Given the description of an element on the screen output the (x, y) to click on. 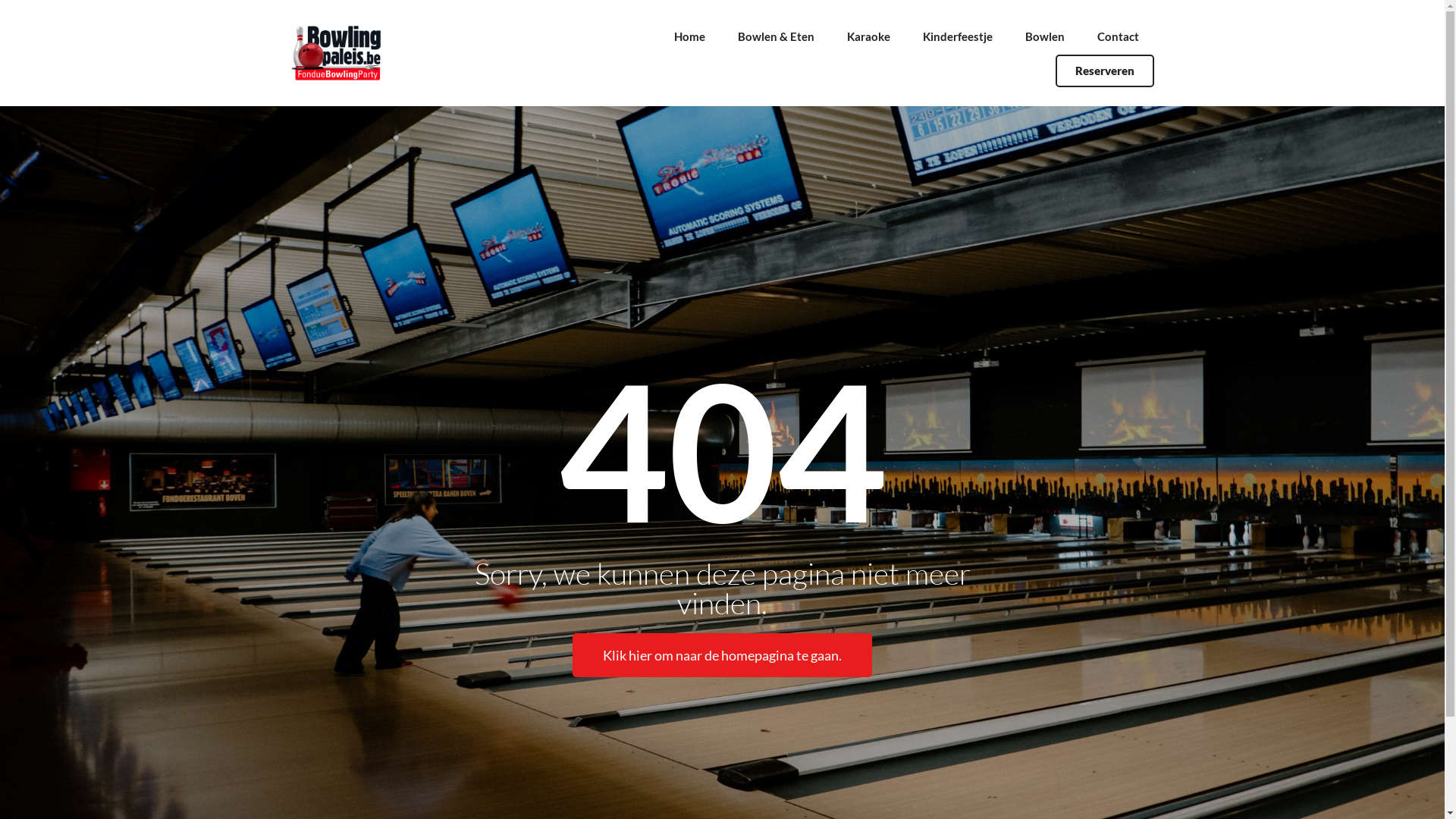
Kinderfeestje Element type: text (957, 36)
Contact Element type: text (1118, 36)
Klik hier om naar de homepagina te gaan. Element type: text (722, 654)
Bowlen & Eten Element type: text (775, 36)
Bowlen Element type: text (1044, 36)
Reserveren Element type: text (1104, 70)
Karaoke Element type: text (868, 36)
Home Element type: text (689, 36)
